Given the description of an element on the screen output the (x, y) to click on. 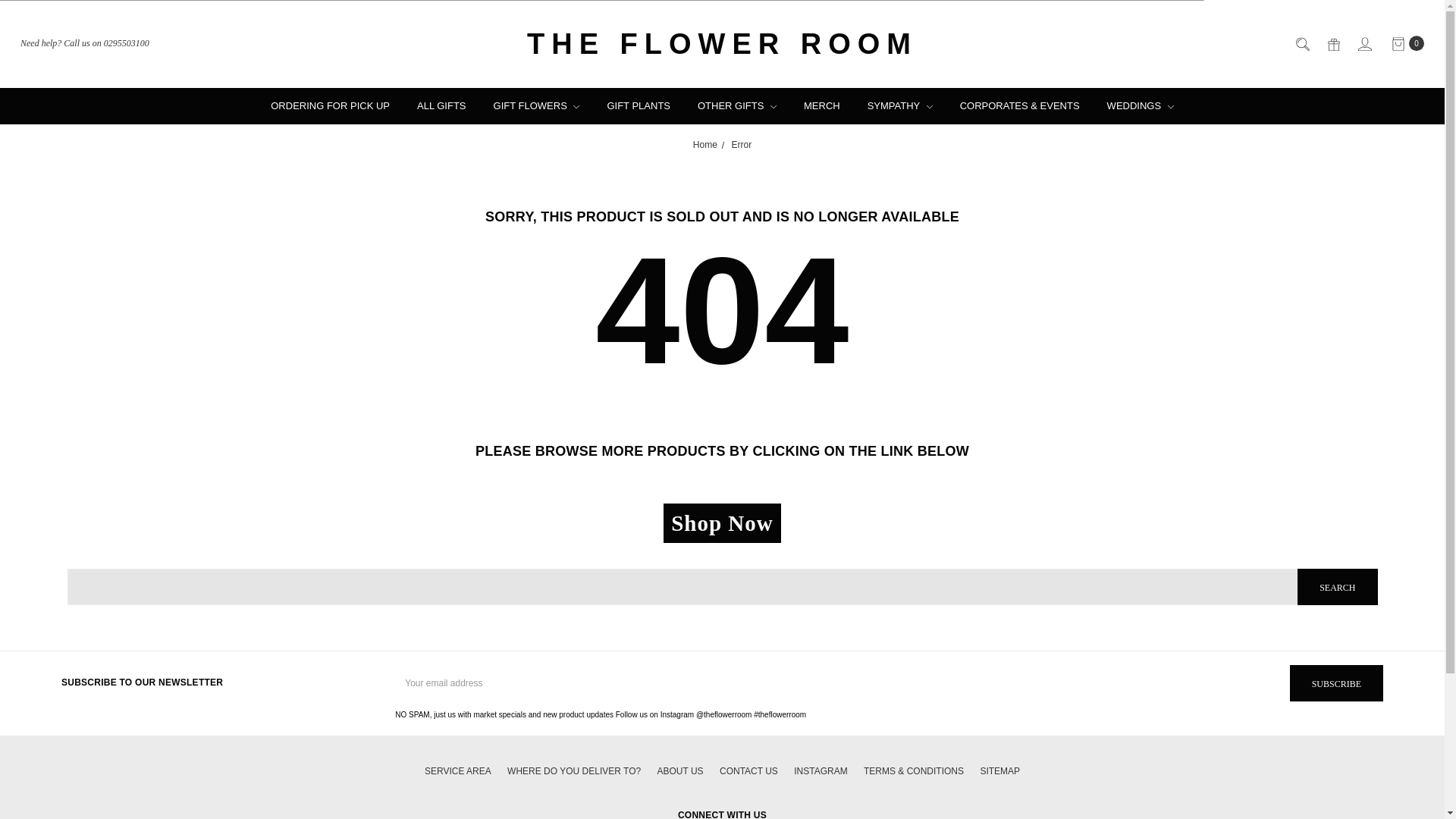
GIFT PLANTS (638, 105)
SYMPATHY (899, 105)
WEDDINGS (1140, 105)
ALL GIFTS (441, 105)
Shop Now (721, 522)
GIFT FLOWERS (537, 105)
OTHER GIFTS (737, 105)
Home (705, 144)
ORDERING FOR PICK UP (330, 105)
Error (742, 144)
